Given the description of an element on the screen output the (x, y) to click on. 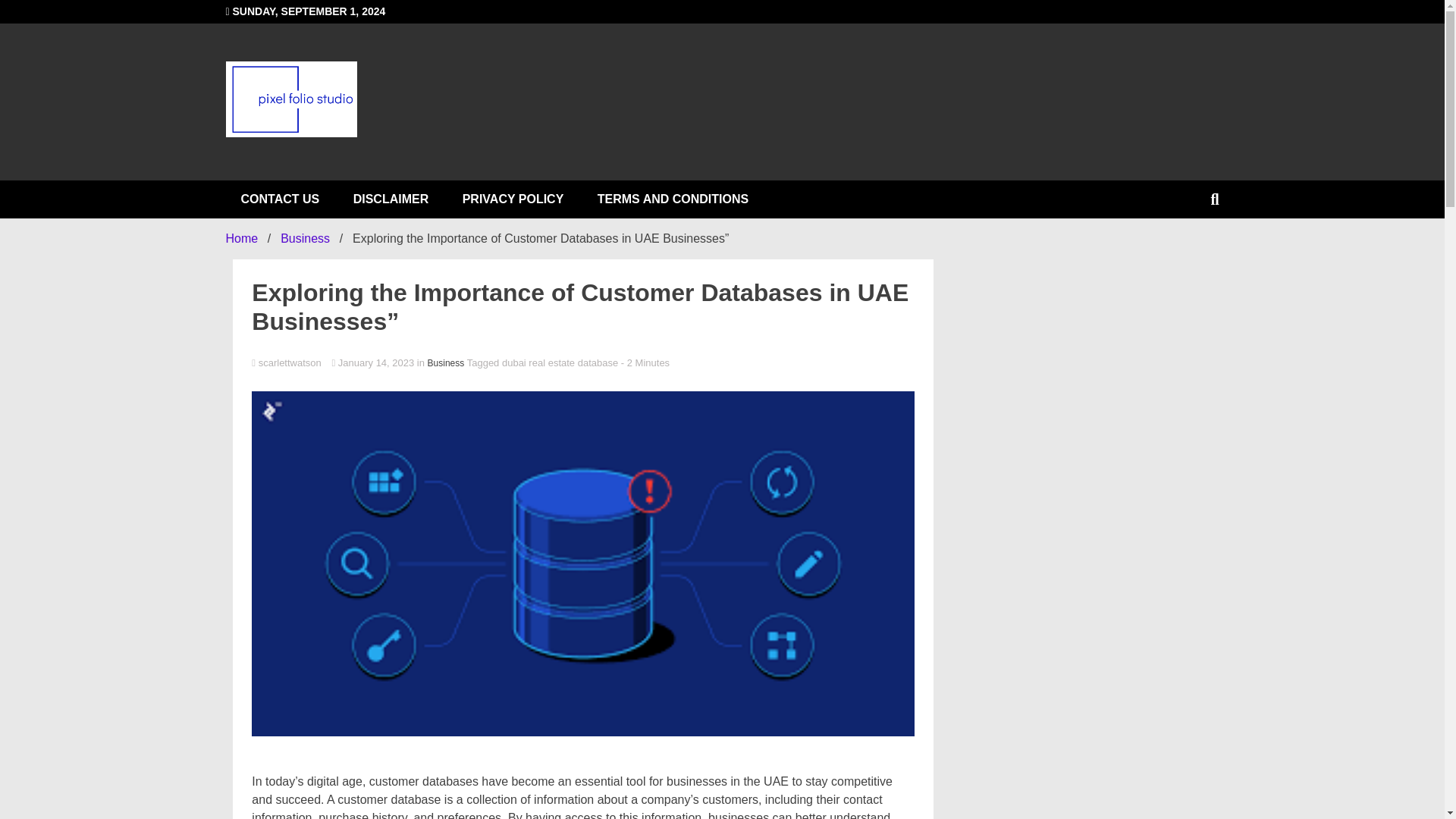
CONTACT US (279, 199)
TERMS AND CONDITIONS (672, 199)
dubai real estate database (559, 362)
January 14, 2023 (373, 362)
Business (446, 363)
Business (305, 237)
Estimated Reading Time of Article (645, 362)
DISCLAIMER (390, 199)
Home (242, 237)
pixelfoliostudio (474, 191)
